Given the description of an element on the screen output the (x, y) to click on. 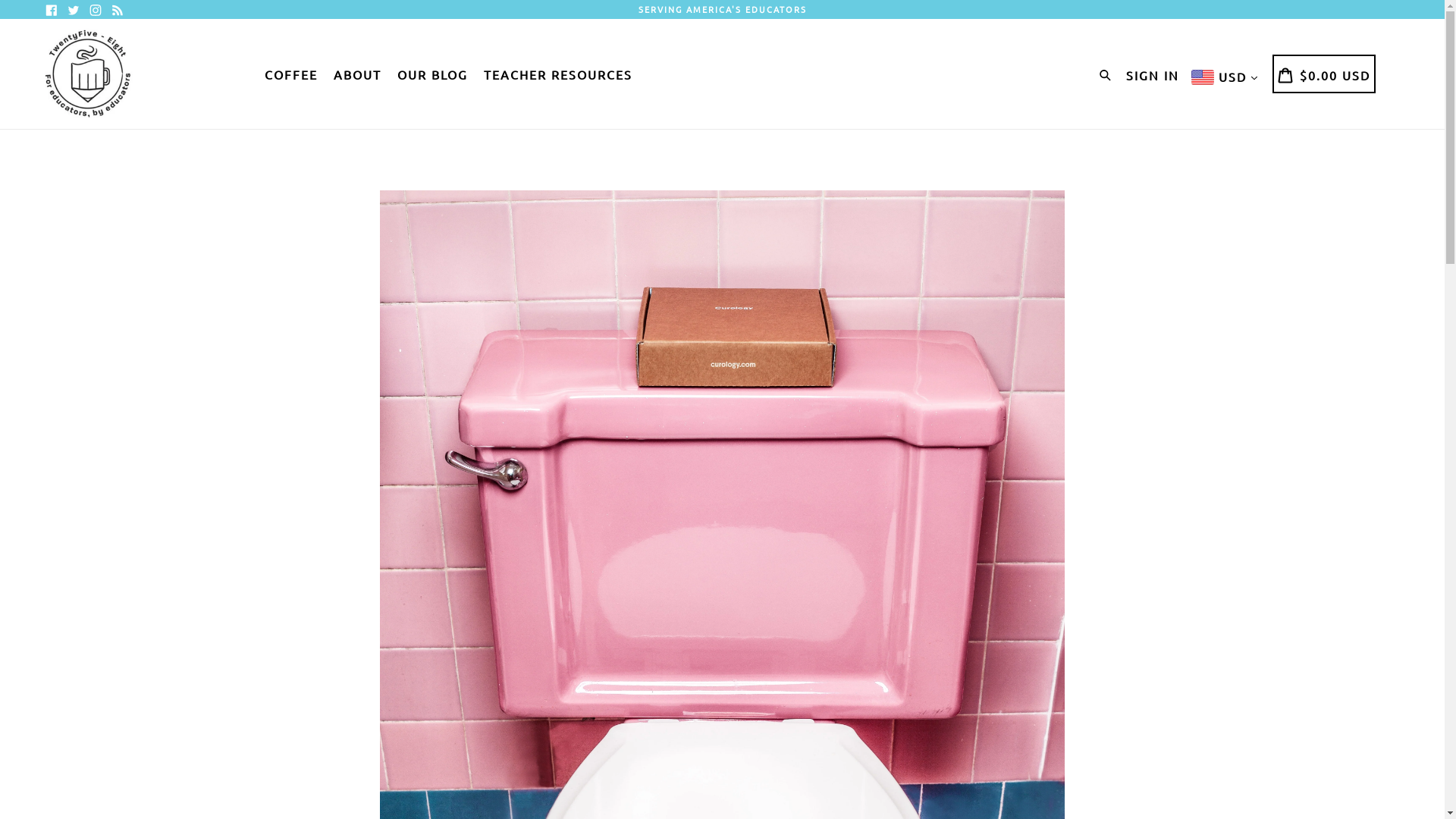
Facebook Element type: text (51, 9)
Twitter Element type: text (73, 9)
COFFEE Element type: text (290, 73)
SIGN IN Element type: text (1152, 73)
CART
CART
$0.00 USD Element type: text (1323, 73)
Search Element type: text (1108, 73)
ABOUT Element type: text (357, 73)
Instagram Element type: text (95, 9)
RSS Element type: text (117, 9)
OUR BLOG Element type: text (432, 73)
TEACHER RESOURCES Element type: text (557, 73)
